Given the description of an element on the screen output the (x, y) to click on. 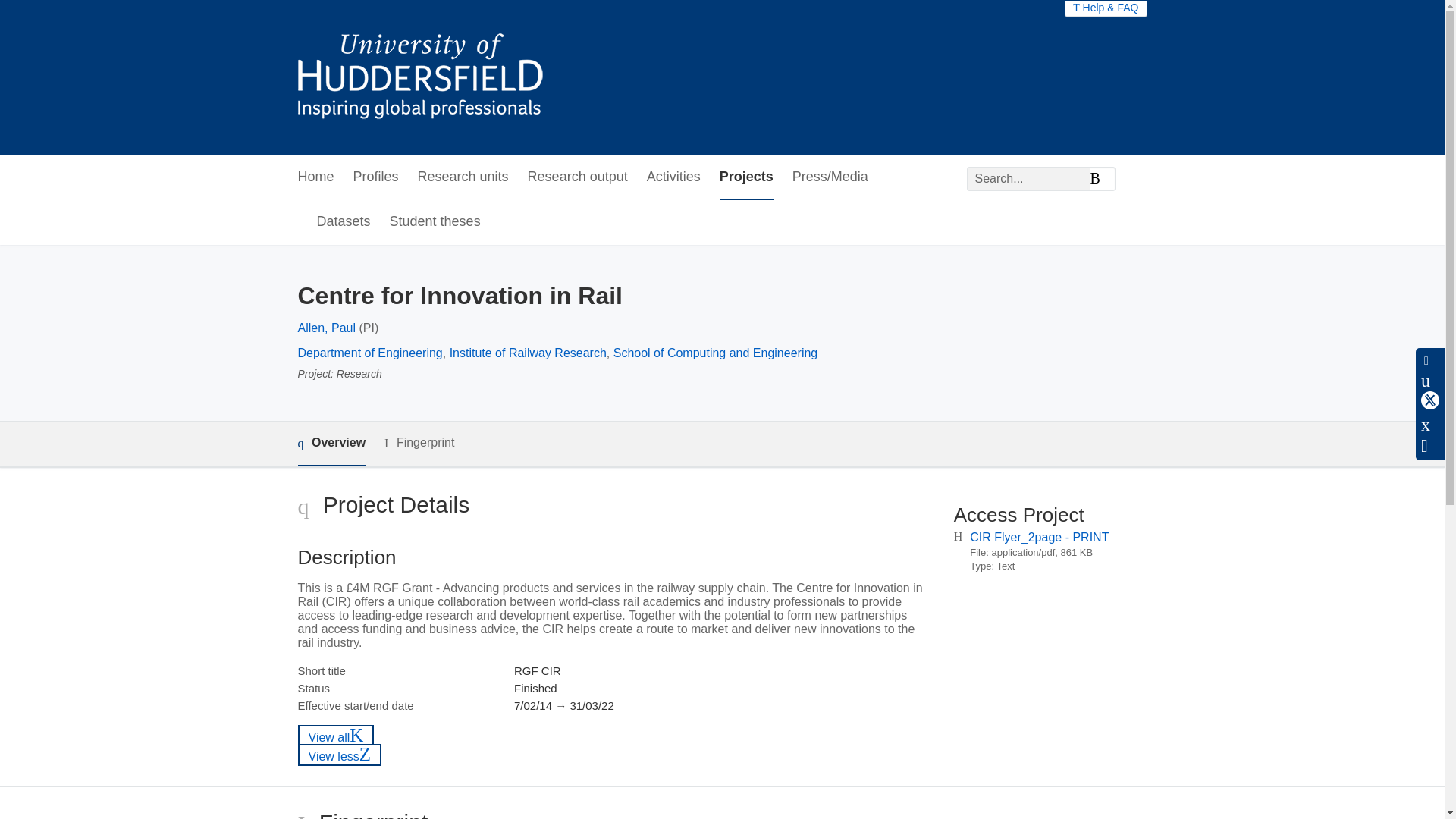
Allen, Paul (326, 327)
Overview (331, 443)
University of Huddersfield Research Portal Home (431, 77)
Institute of Railway Research (528, 352)
Datasets (344, 221)
Projects (746, 177)
View less (339, 754)
View all (335, 735)
Fingerprint (419, 443)
Department of Engineering (369, 352)
Student theses (435, 221)
Profiles (375, 177)
Research units (462, 177)
School of Computing and Engineering (715, 352)
